Given the description of an element on the screen output the (x, y) to click on. 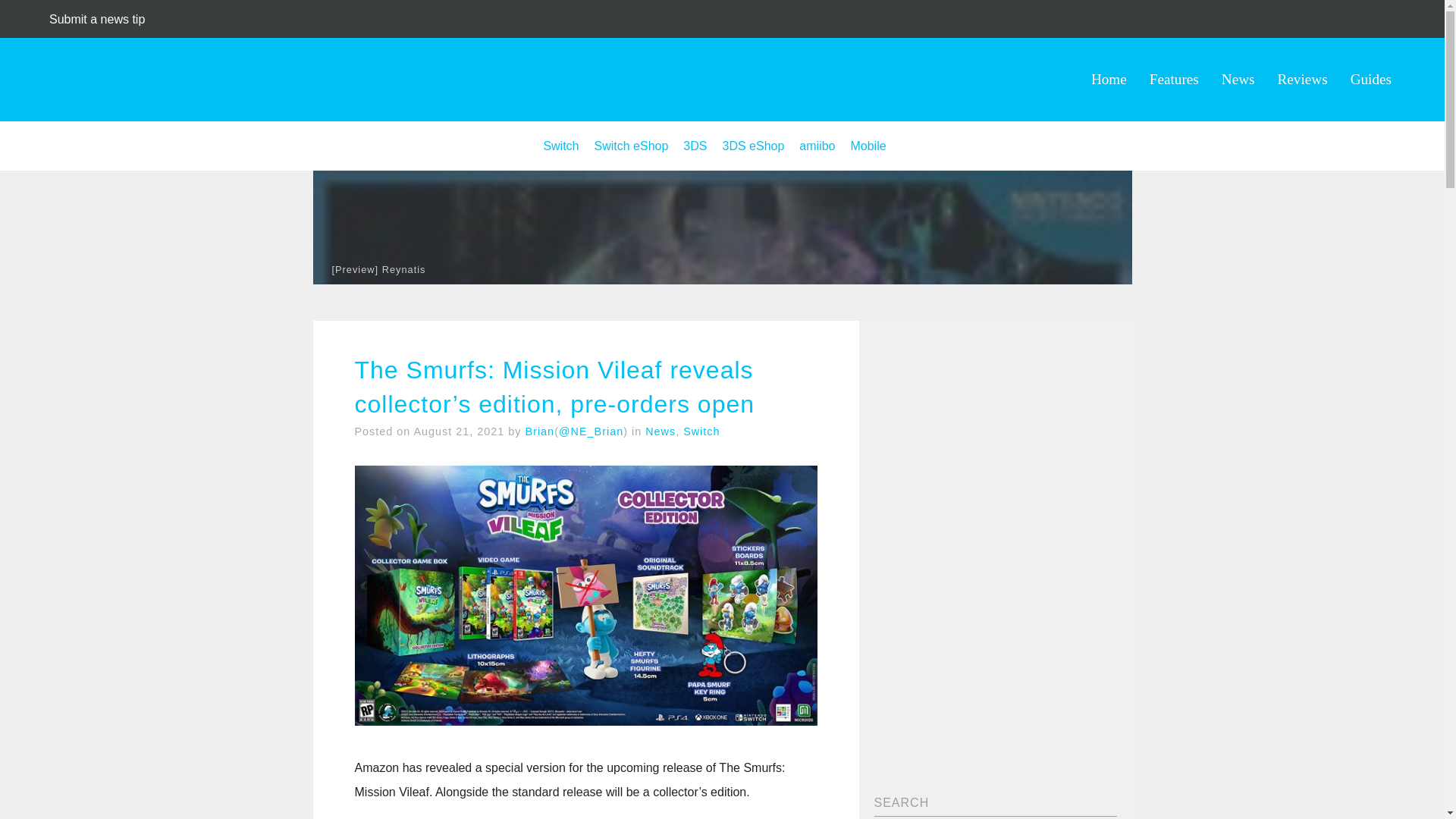
News (660, 431)
Submit a news tip (97, 19)
Features (1174, 78)
Reviews (1302, 78)
Switch eShop (631, 145)
3DS eShop (753, 145)
Mobile (867, 145)
amiibo (816, 145)
Guides (1371, 78)
Switch (700, 431)
